Given the description of an element on the screen output the (x, y) to click on. 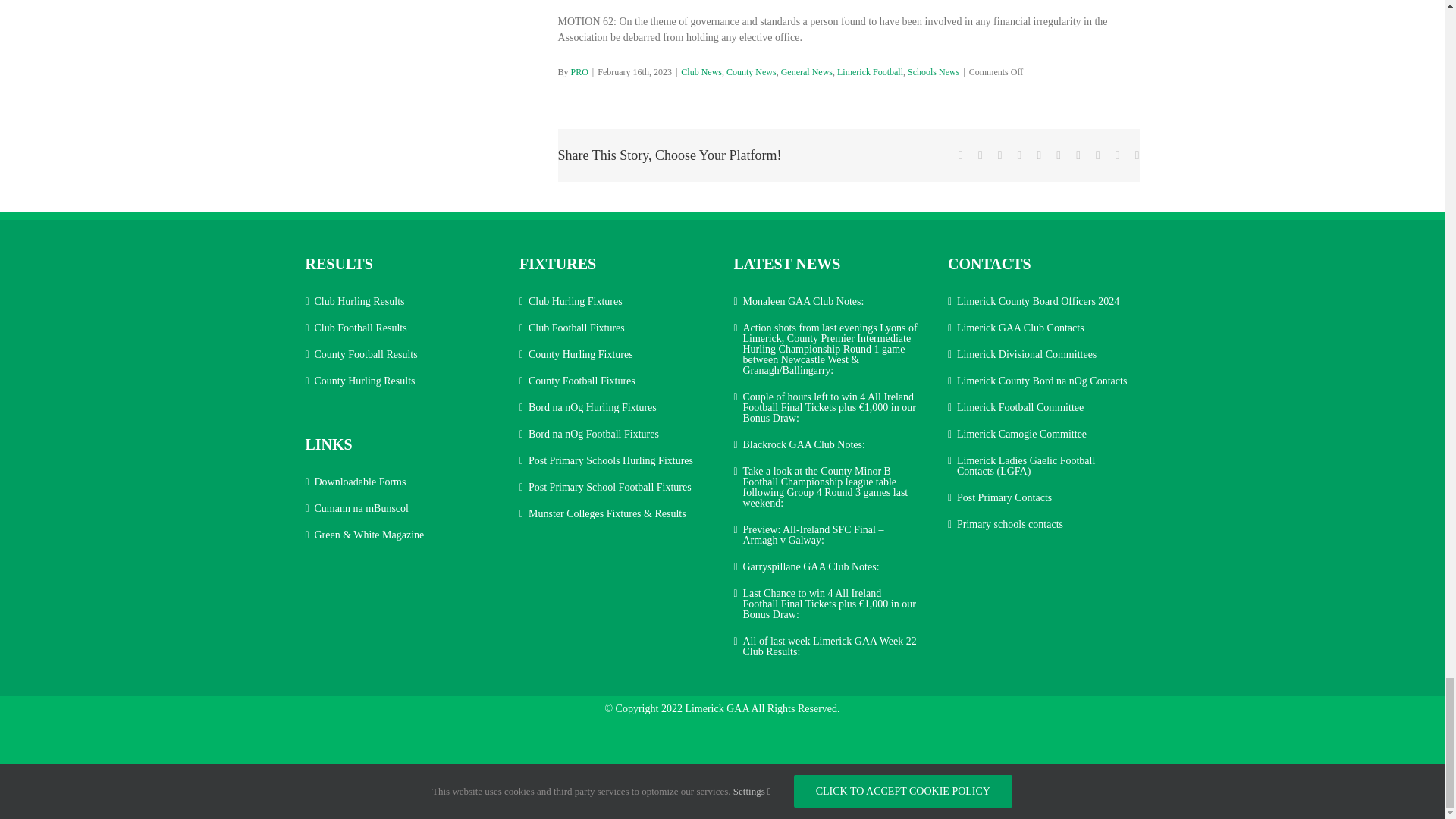
Posts by PRO (579, 71)
